Given the description of an element on the screen output the (x, y) to click on. 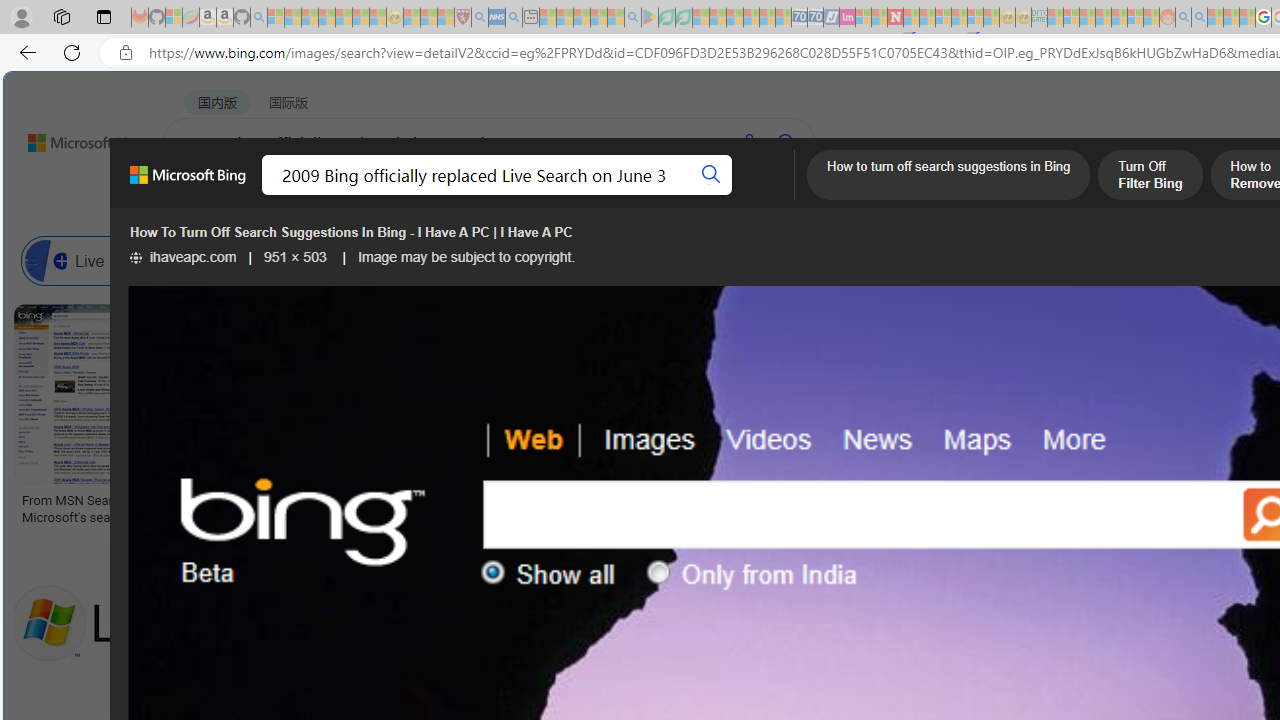
Class: item col (943, 260)
Bluey: Let's Play! - Apps on Google Play - Sleeping (649, 17)
